Given the description of an element on the screen output the (x, y) to click on. 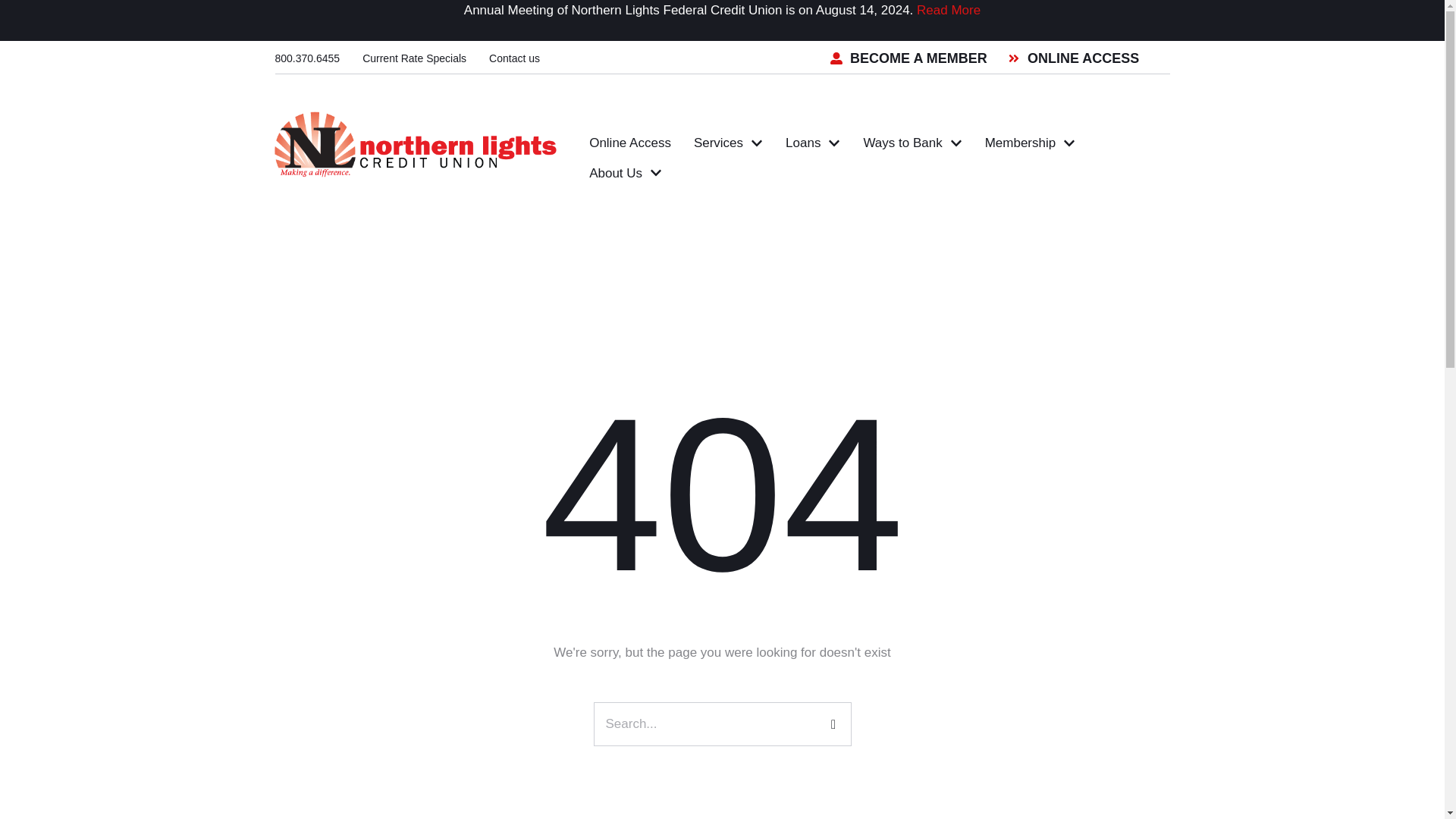
Current Rate Specials (413, 58)
Membership (1030, 142)
BECOME A MEMBER (908, 58)
ONLINE ACCESS (1073, 58)
Read More (948, 10)
Northern Lights Credit Union (413, 142)
Contact us (514, 58)
Online Access (630, 142)
About Us (625, 173)
Ways to Bank (911, 142)
